Given the description of an element on the screen output the (x, y) to click on. 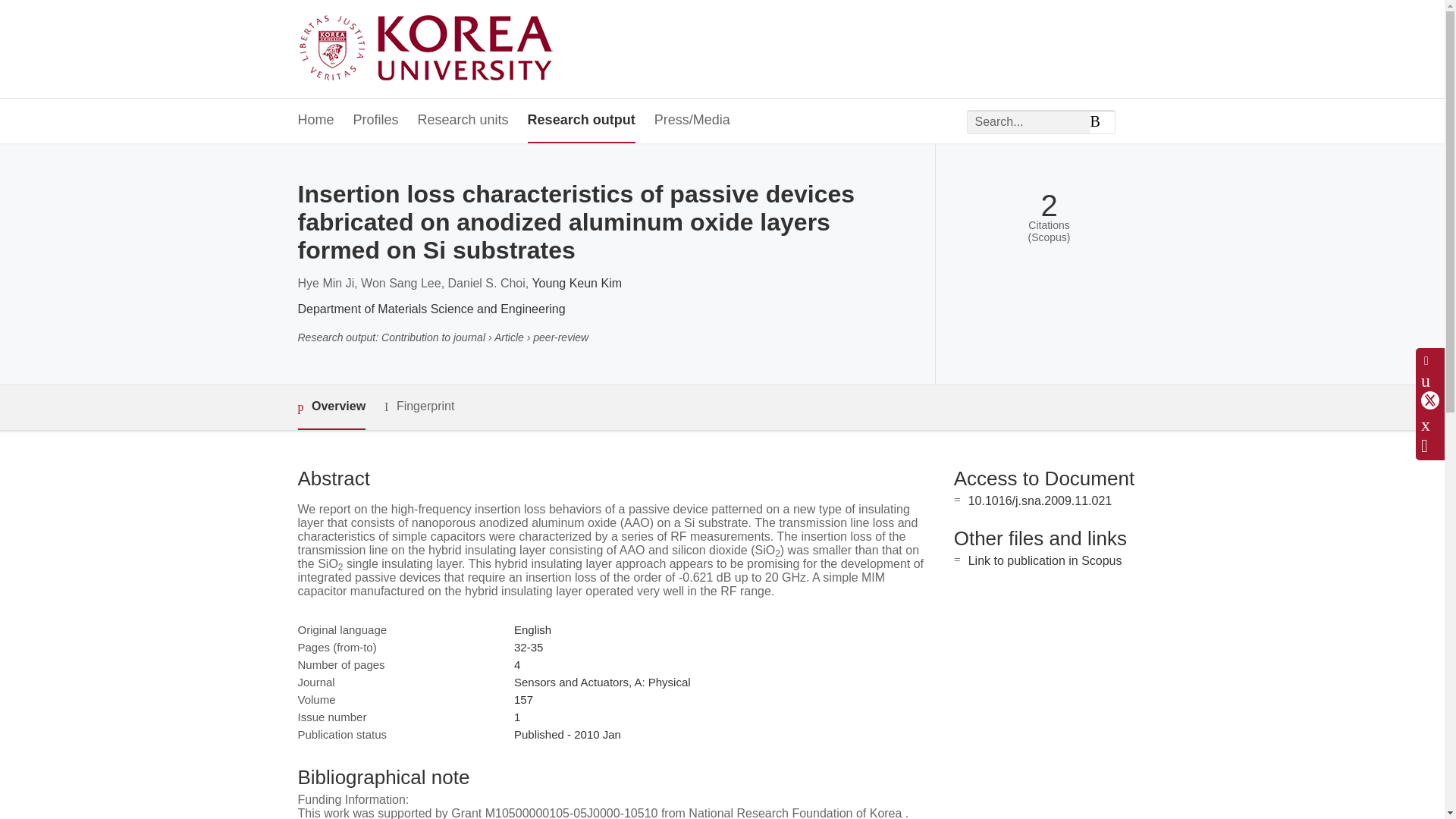
Fingerprint (419, 406)
Research output (580, 120)
Profiles (375, 120)
Overview (331, 406)
Sensors and Actuators, A: Physical (601, 681)
Link to publication in Scopus (1045, 560)
Department of Materials Science and Engineering (430, 308)
Research units (462, 120)
Korea University Home (429, 49)
Young Keun Kim (576, 282)
